Given the description of an element on the screen output the (x, y) to click on. 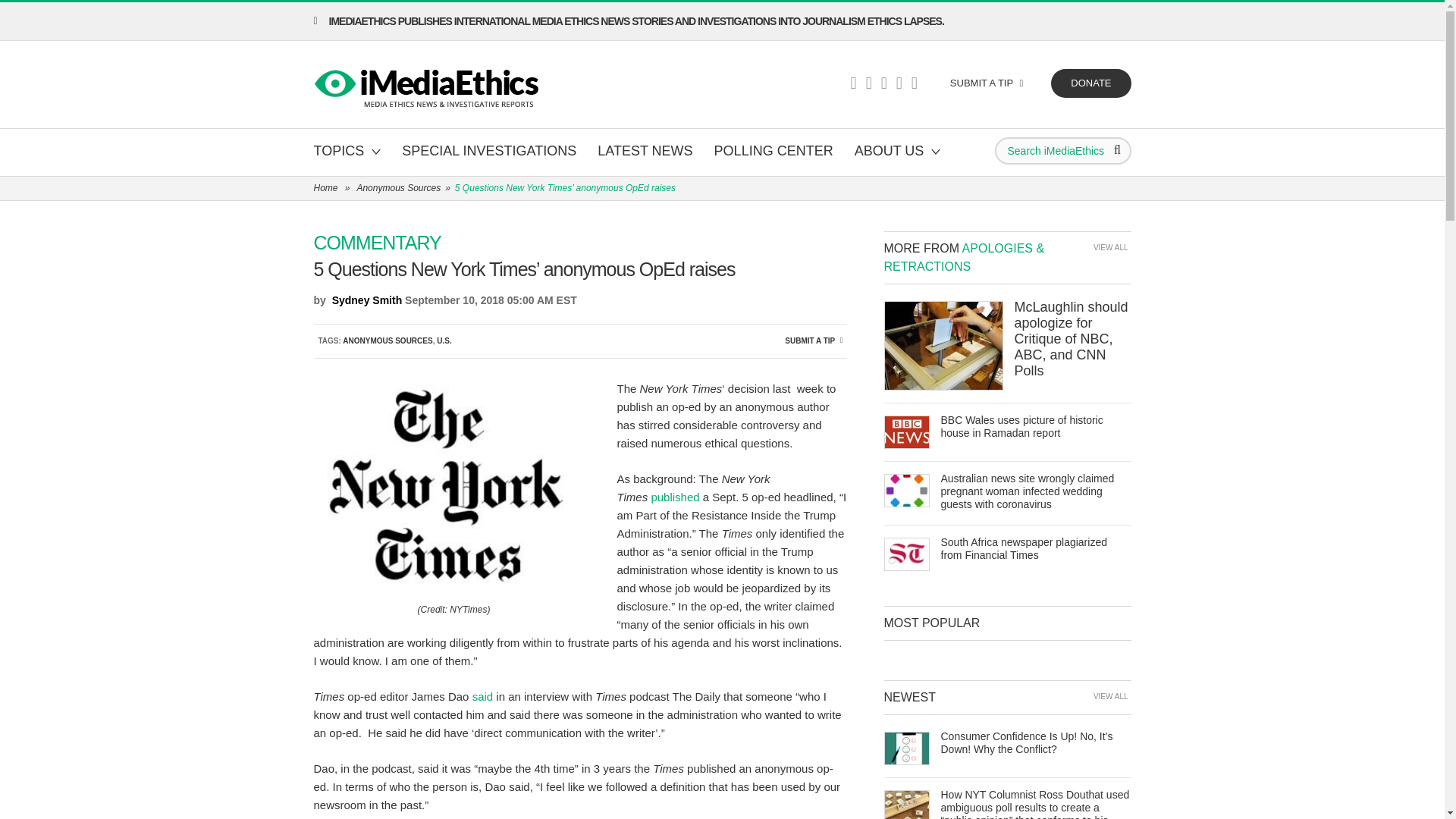
Search (1116, 149)
iMediaEthics (428, 84)
SUBMIT A TIP (985, 82)
iMediaEthics (428, 84)
DONATE (1091, 82)
TOPICS (347, 152)
